Given the description of an element on the screen output the (x, y) to click on. 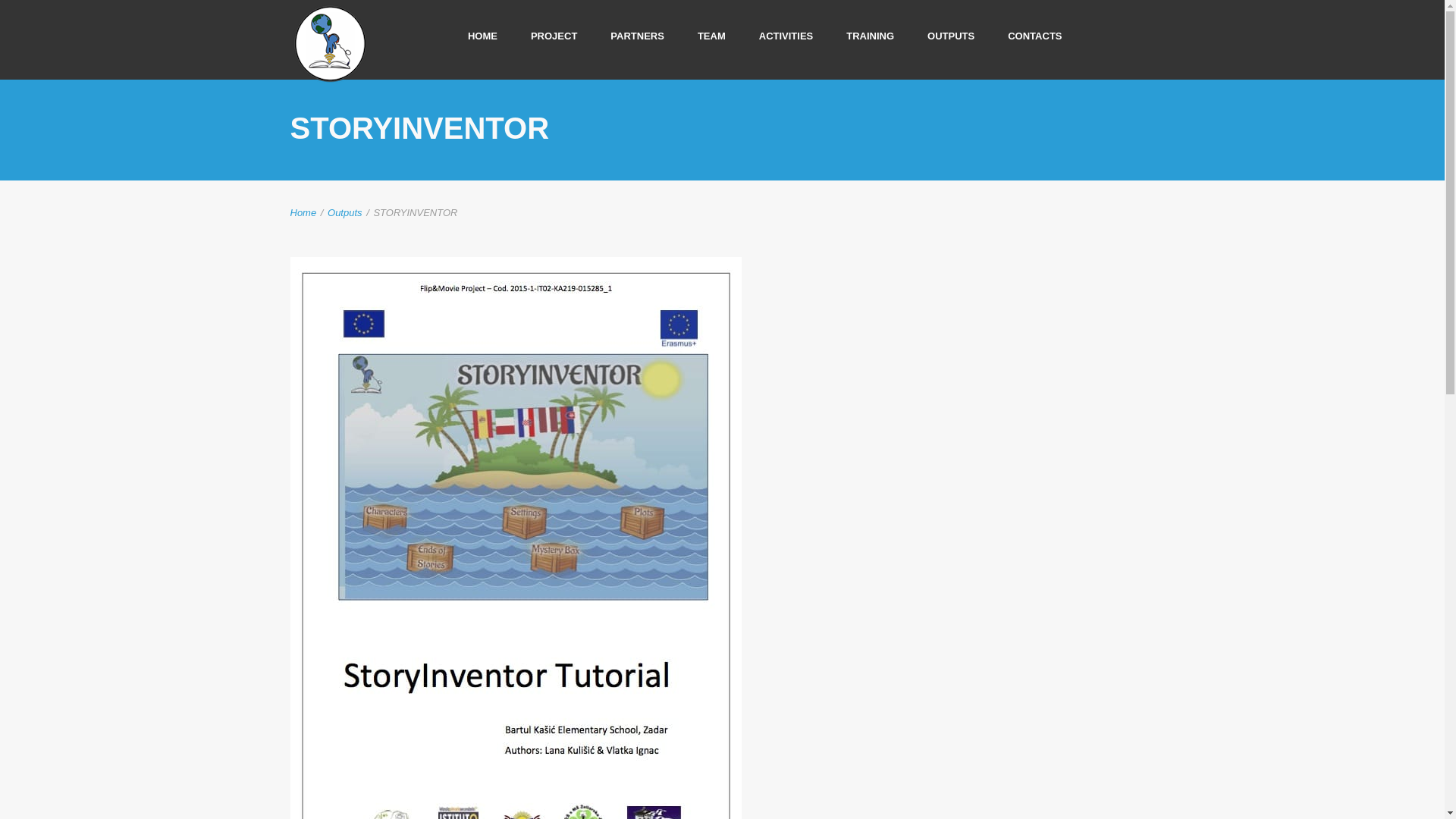
Flip and Movie (329, 43)
